Given the description of an element on the screen output the (x, y) to click on. 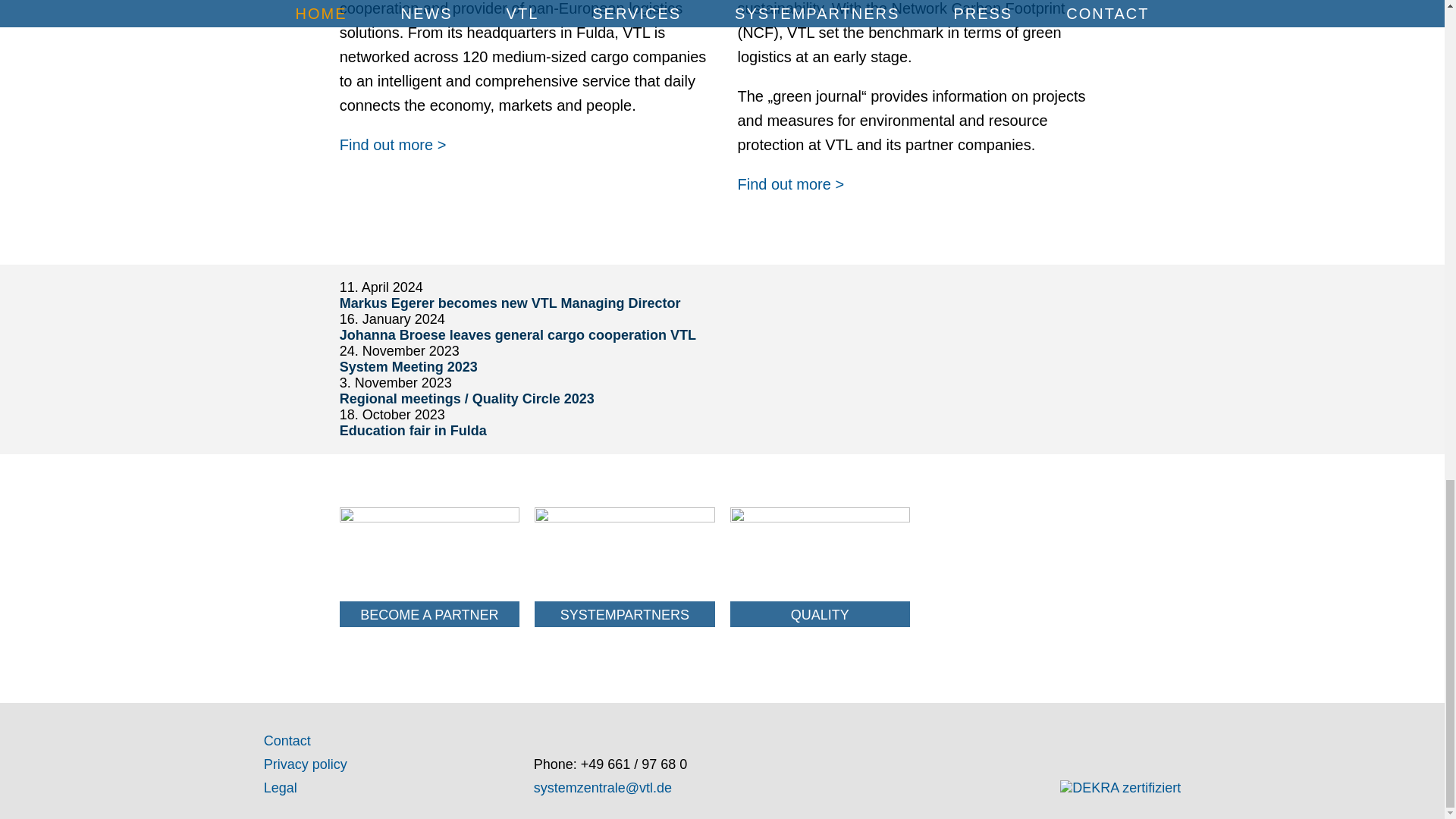
BECOME A PARTNER (429, 566)
System Meeting 2023 (408, 366)
Education fair in Fulda (412, 430)
Johanna Broese leaves general cargo cooperation VTL (517, 335)
Markus Egerer becomes new VTL Managing Director (510, 303)
